Given the description of an element on the screen output the (x, y) to click on. 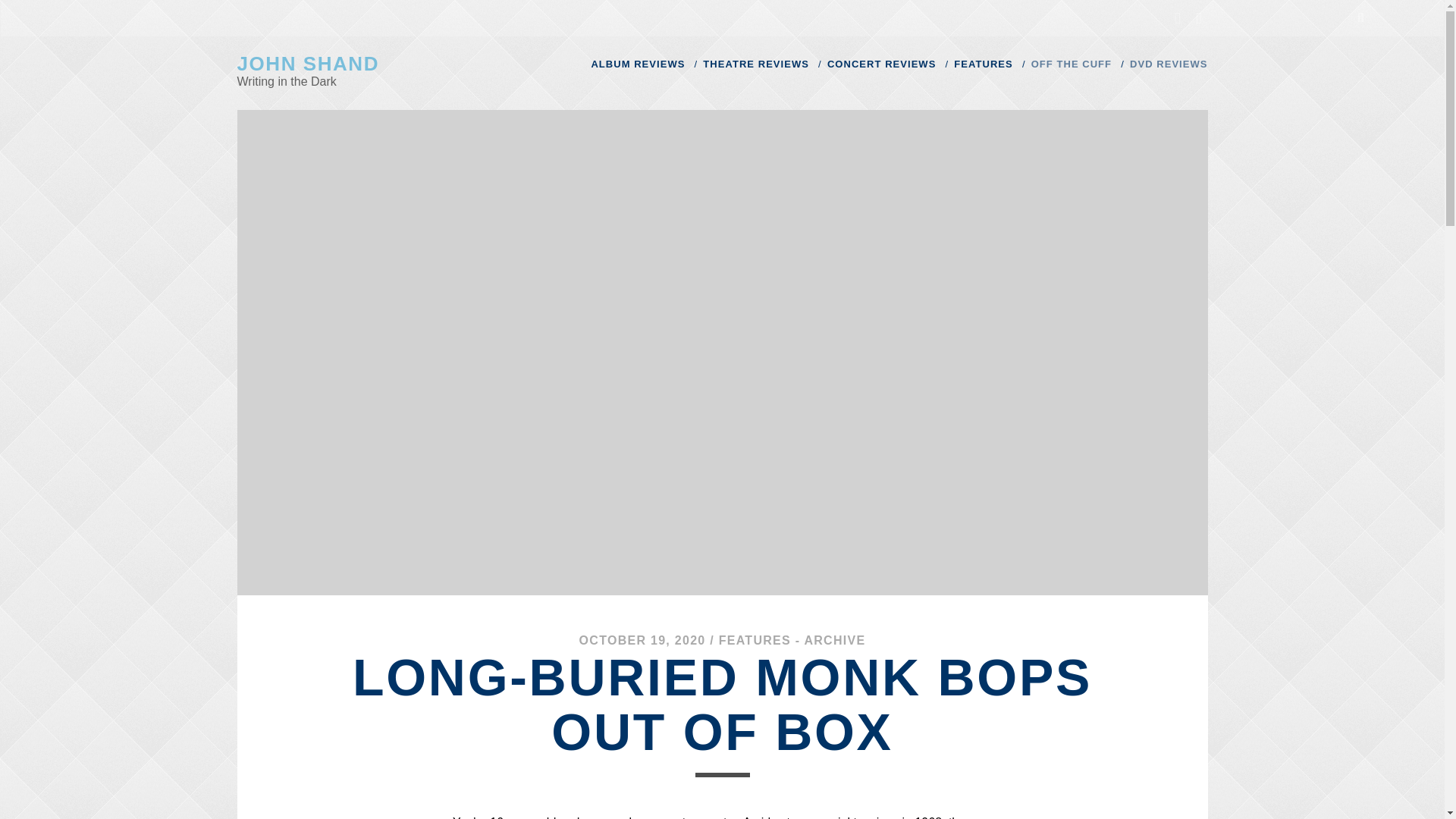
FEATURES - ARCHIVE (792, 640)
DVD REVIEWS (1168, 64)
ALBUM REVIEWS (637, 64)
THEATRE REVIEWS (756, 64)
FEATURES (982, 64)
JOHN SHAND (306, 63)
CONCERT REVIEWS (881, 64)
OFF THE CUFF (1071, 64)
